Given the description of an element on the screen output the (x, y) to click on. 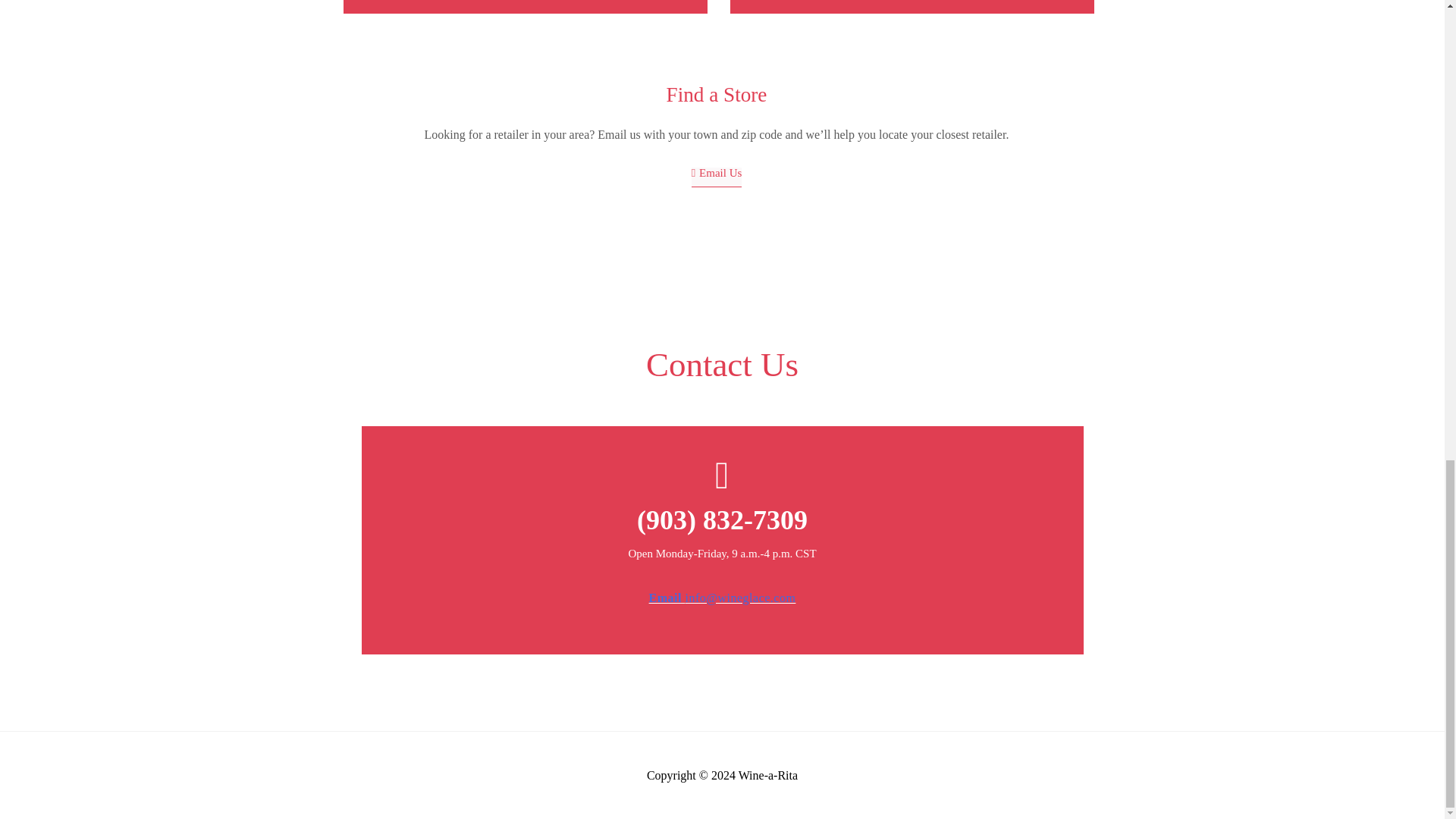
Email Us (716, 177)
